Given the description of an element on the screen output the (x, y) to click on. 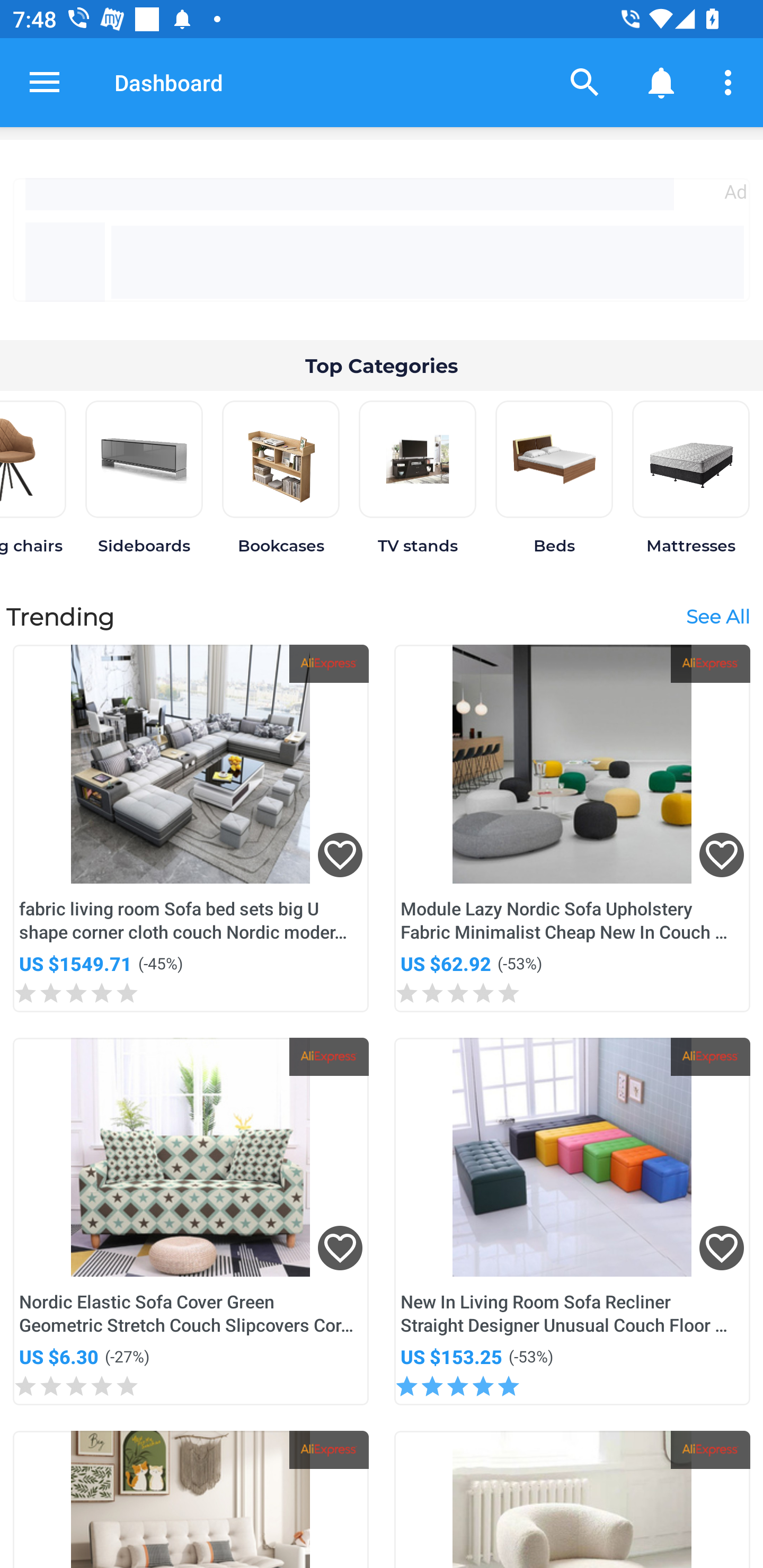
Open navigation drawer (44, 82)
Search (585, 81)
More options (731, 81)
See All (717, 615)
